Given the description of an element on the screen output the (x, y) to click on. 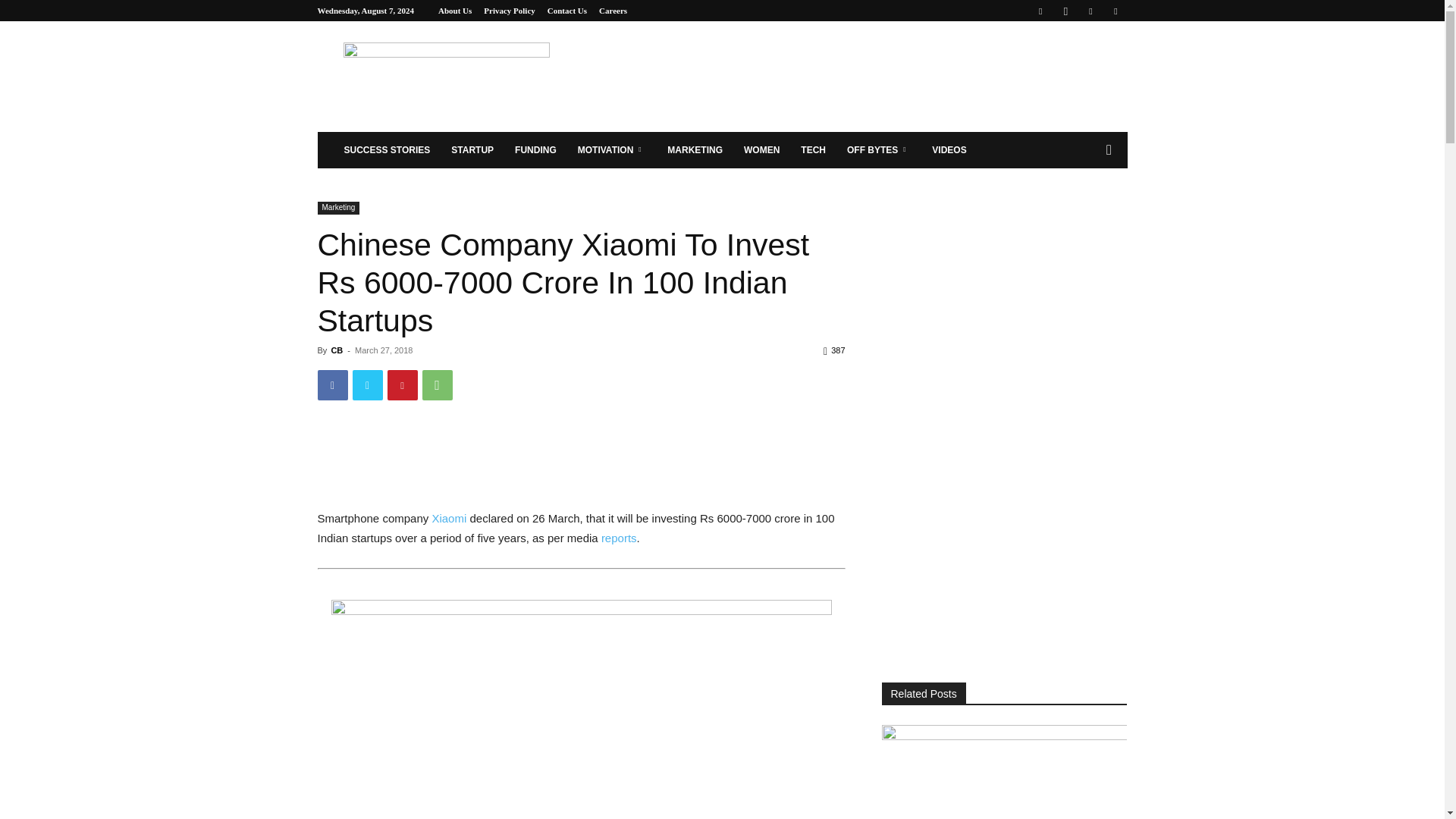
Facebook (332, 385)
MARKETING (694, 149)
Contact Us (566, 10)
Instagram (1065, 10)
SUCCESS STORIES (387, 149)
Careers (612, 10)
STARTUP (472, 149)
MOTIVATION (612, 149)
About Us (454, 10)
Pinterest (401, 385)
